Given the description of an element on the screen output the (x, y) to click on. 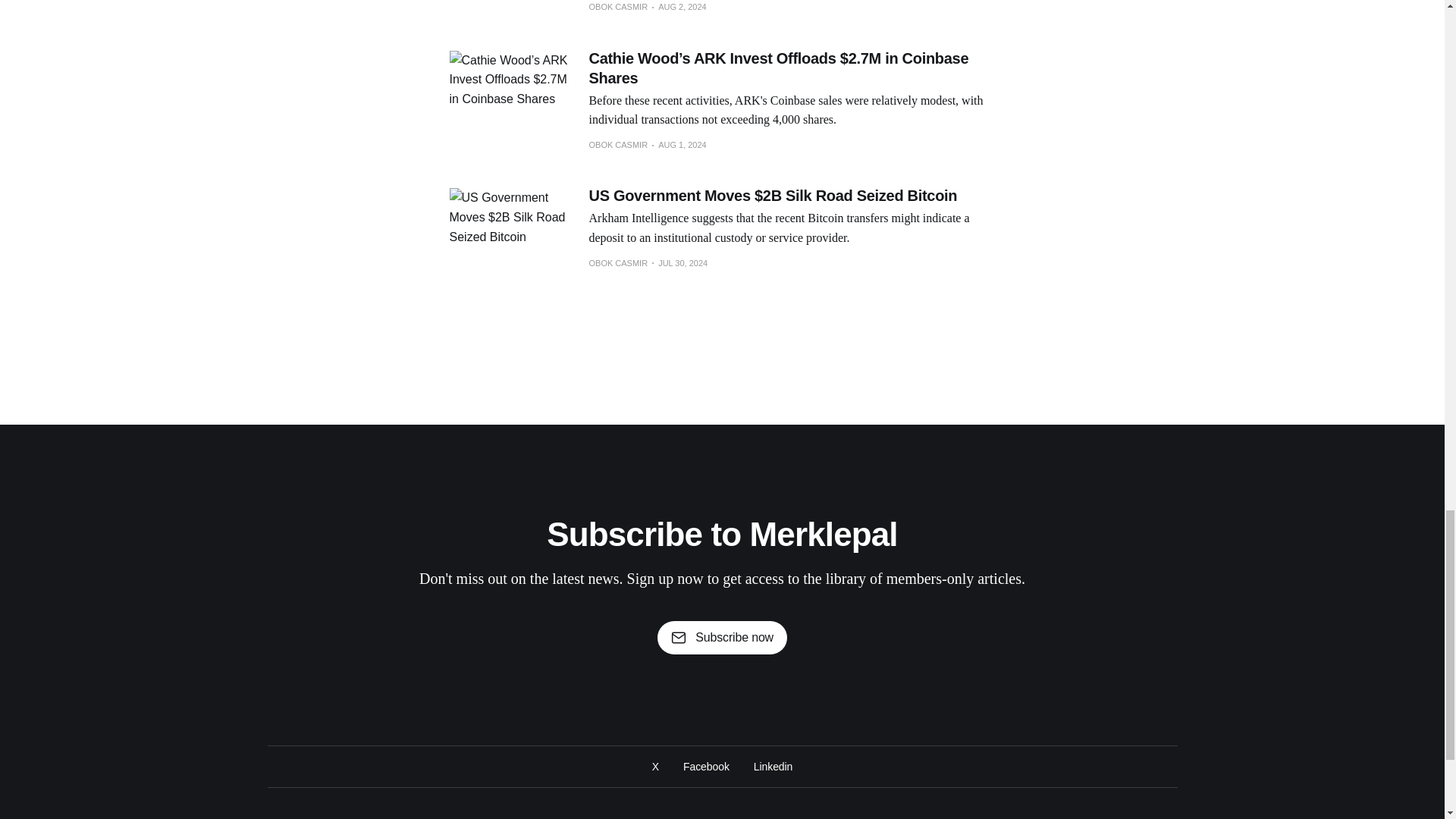
Facebook (705, 766)
Subscribe now (722, 637)
Linkedin (773, 766)
